Given the description of an element on the screen output the (x, y) to click on. 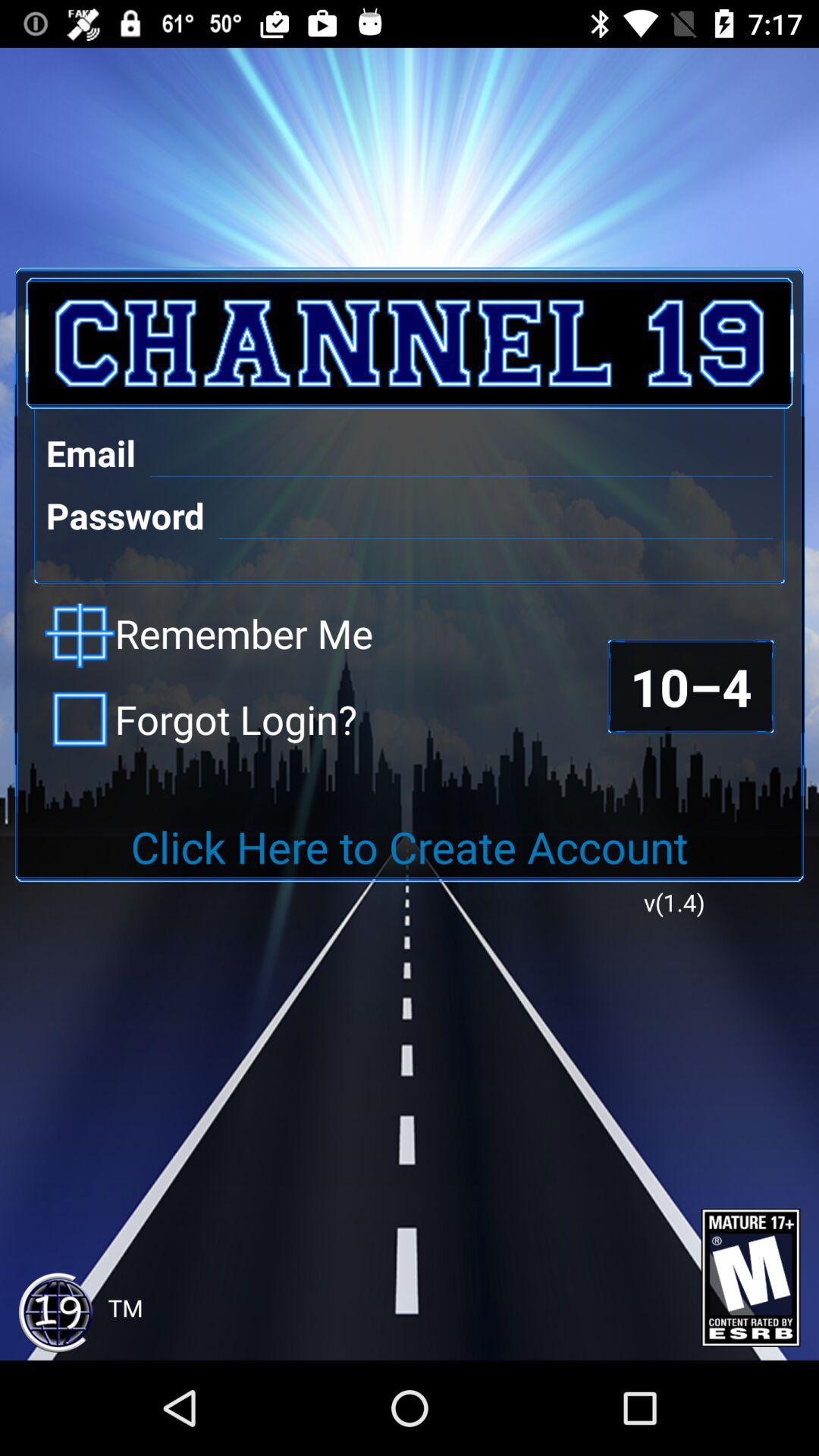
launch icon below password icon (208, 635)
